Given the description of an element on the screen output the (x, y) to click on. 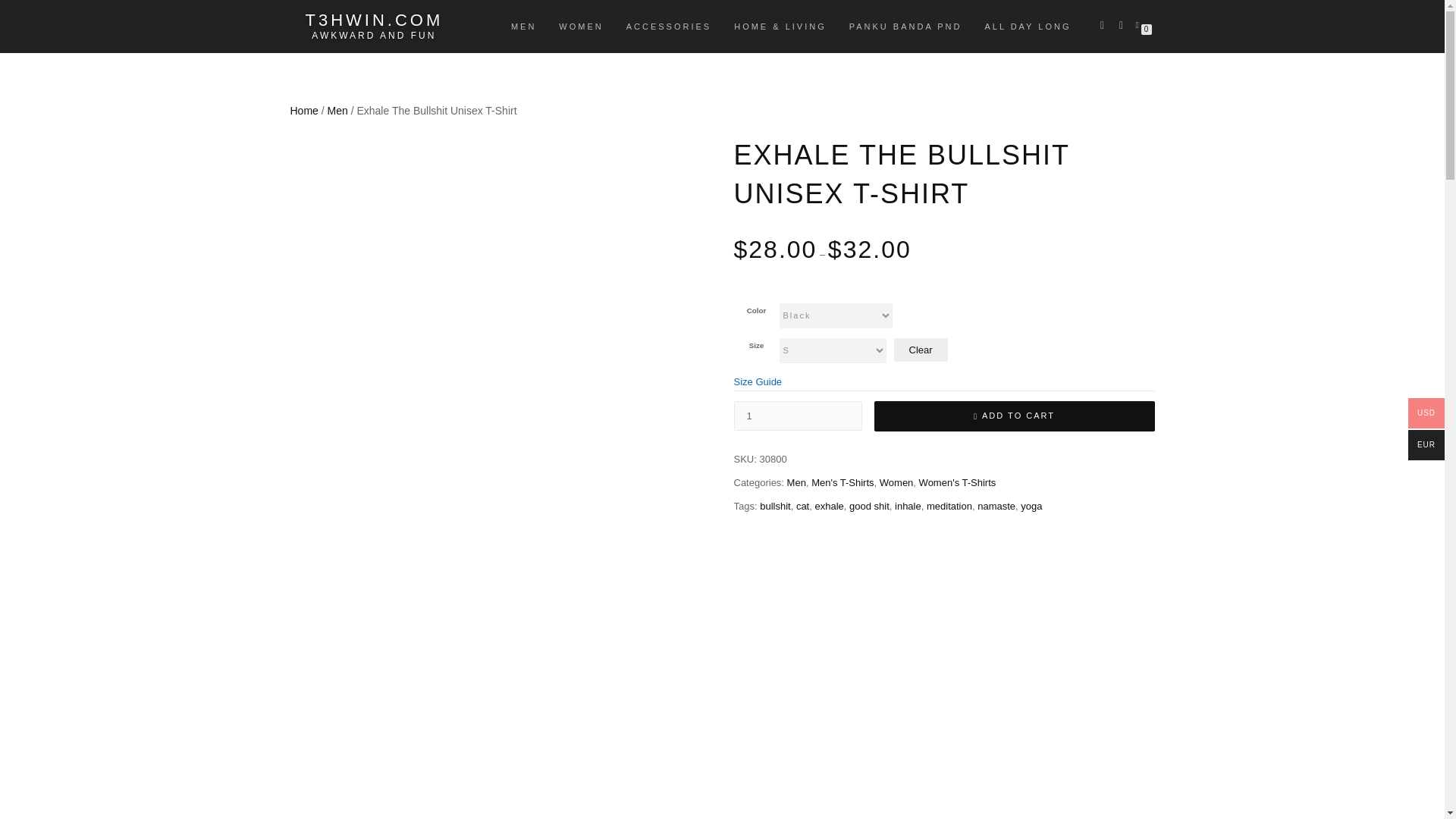
Clear (920, 349)
cat (802, 505)
Women (896, 482)
PANKU BANDA PND (906, 26)
ALL DAY LONG (1026, 26)
T3HWIN.COM (373, 20)
Men's T-Shirts (841, 482)
ADD TO CART (1013, 416)
t3hwin.com (373, 20)
Men (796, 482)
1 (798, 415)
bullshit (775, 505)
View your shopping cart (1139, 23)
WOMEN (580, 26)
Men (337, 110)
